Given the description of an element on the screen output the (x, y) to click on. 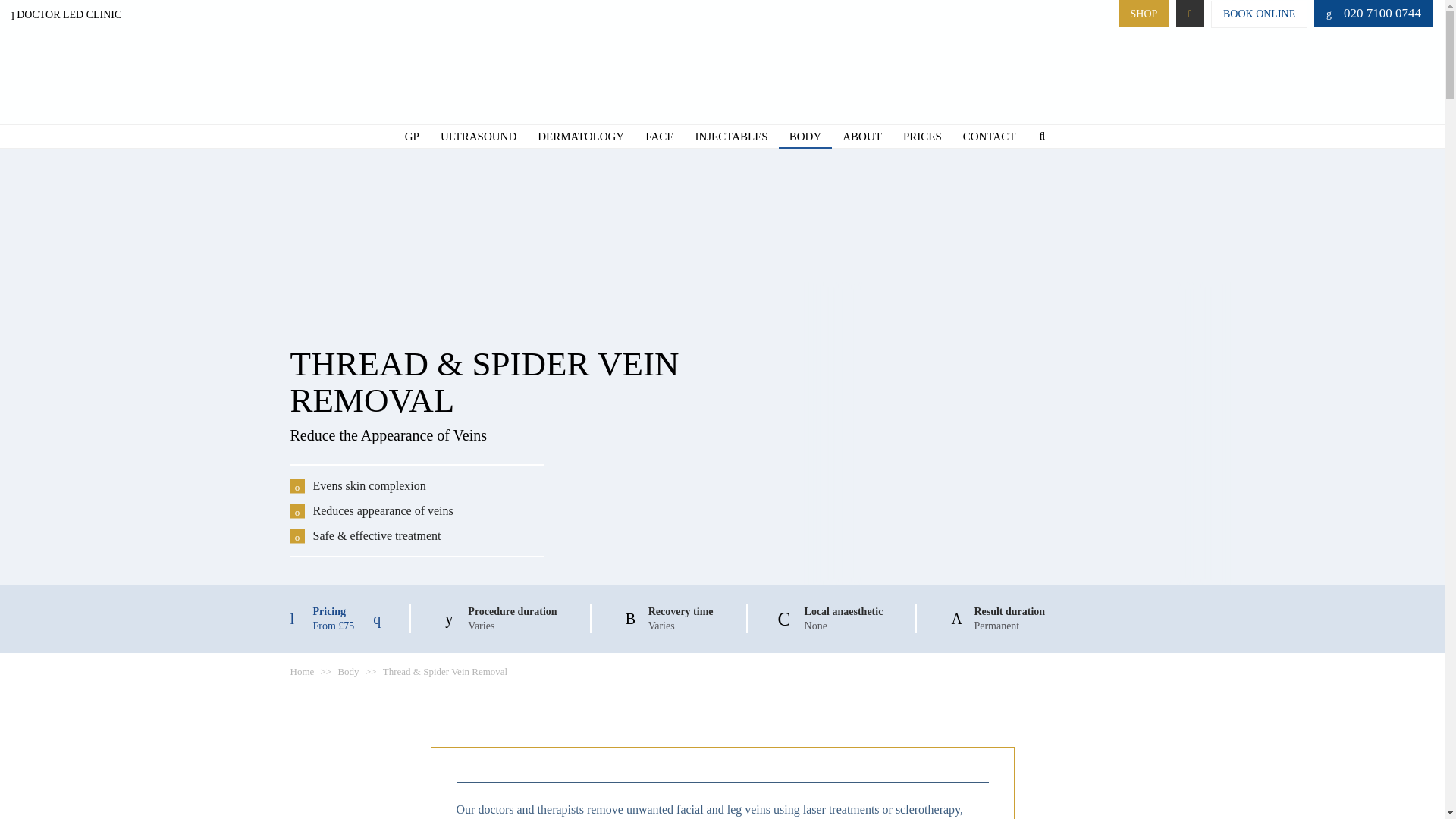
020 7100 0744 (1375, 13)
BOOK ONLINE (1259, 13)
GP (411, 136)
SHOP (1144, 13)
